Given the description of an element on the screen output the (x, y) to click on. 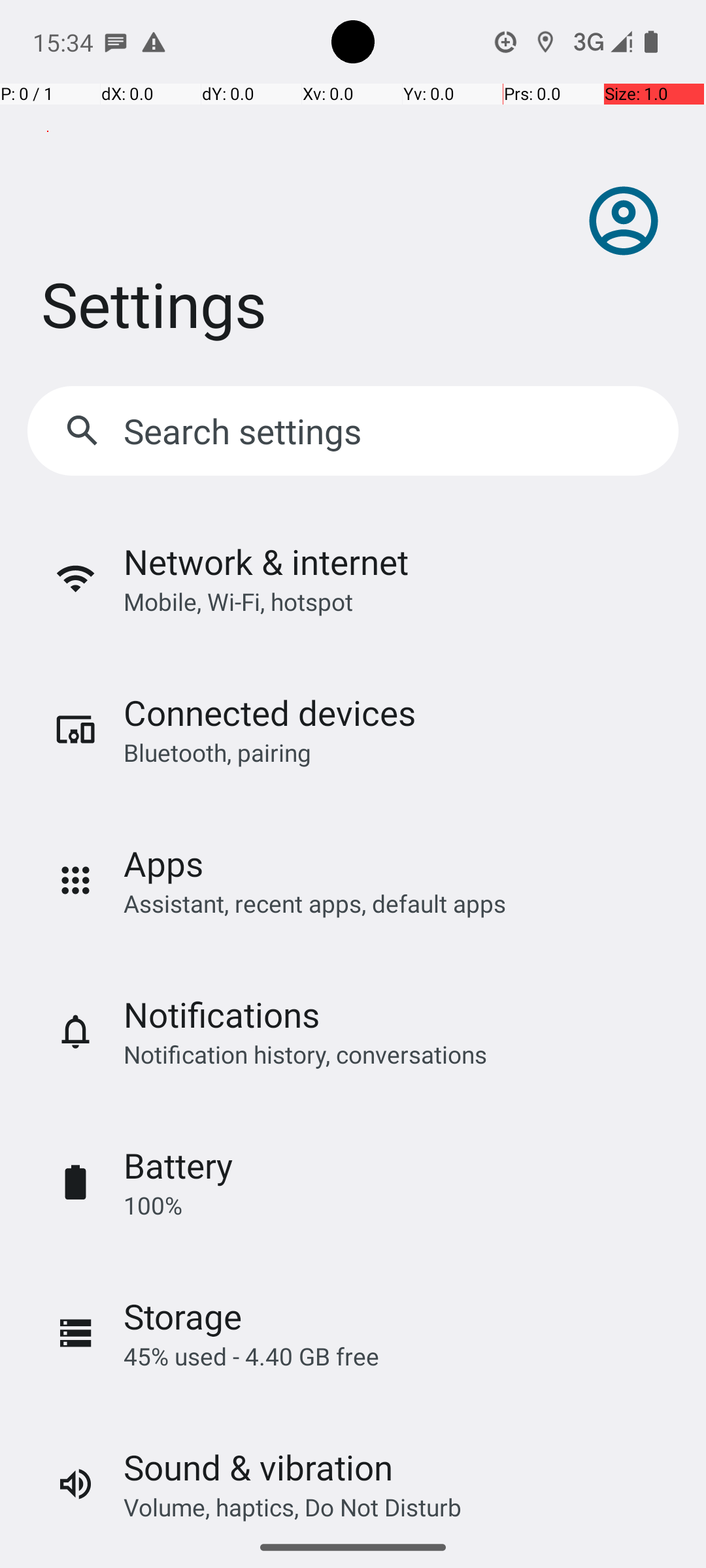
45% used - 4.40 GB free Element type: android.widget.TextView (251, 1355)
